Given the description of an element on the screen output the (x, y) to click on. 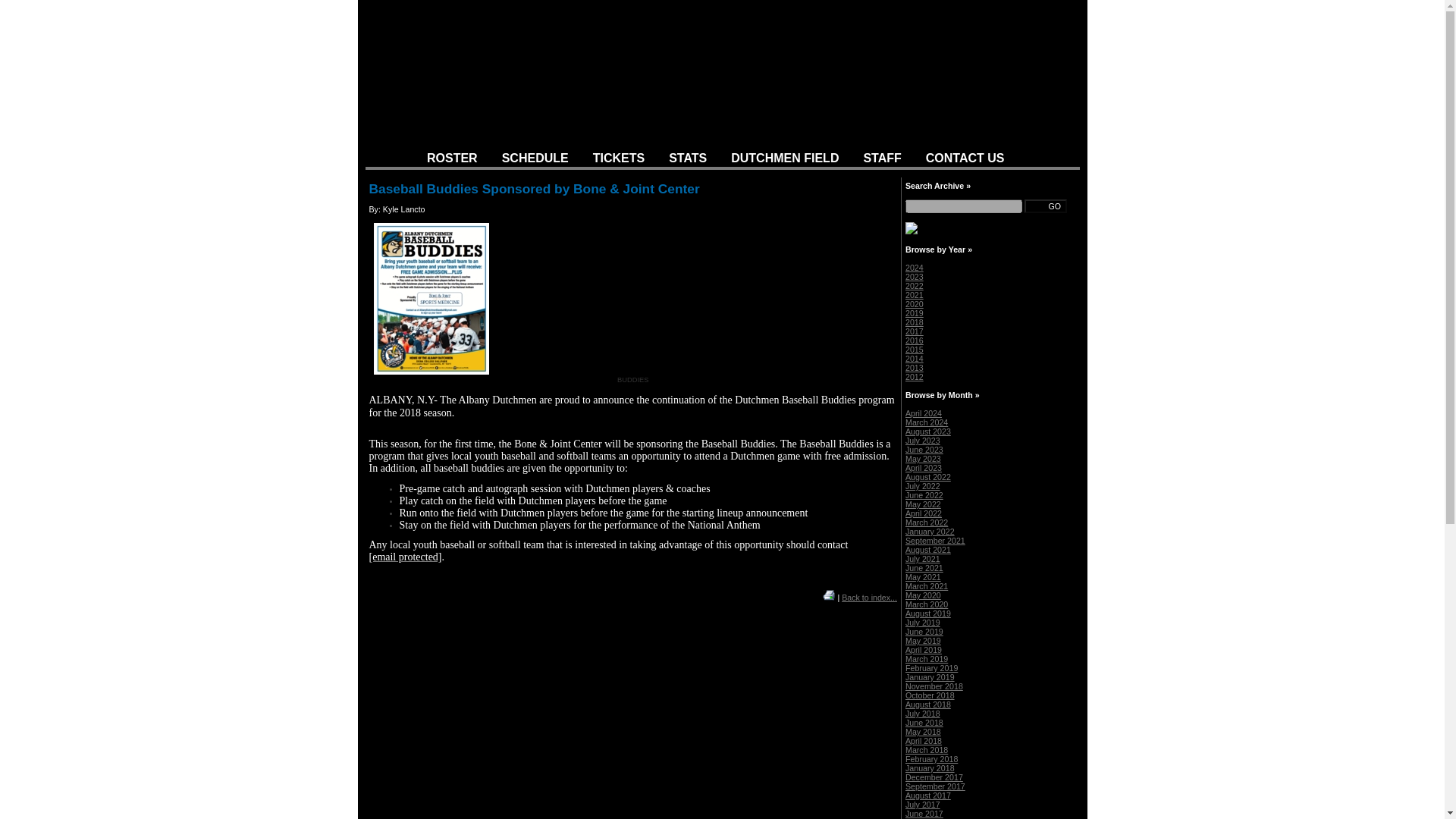
DUTCHMEN FIELD (784, 157)
STAFF (881, 157)
Go (1046, 205)
CONTACT US (965, 157)
TICKETS (618, 157)
Back to index... (868, 596)
STATS (687, 157)
SCHEDULE (534, 157)
ROSTER (451, 157)
